Given the description of an element on the screen output the (x, y) to click on. 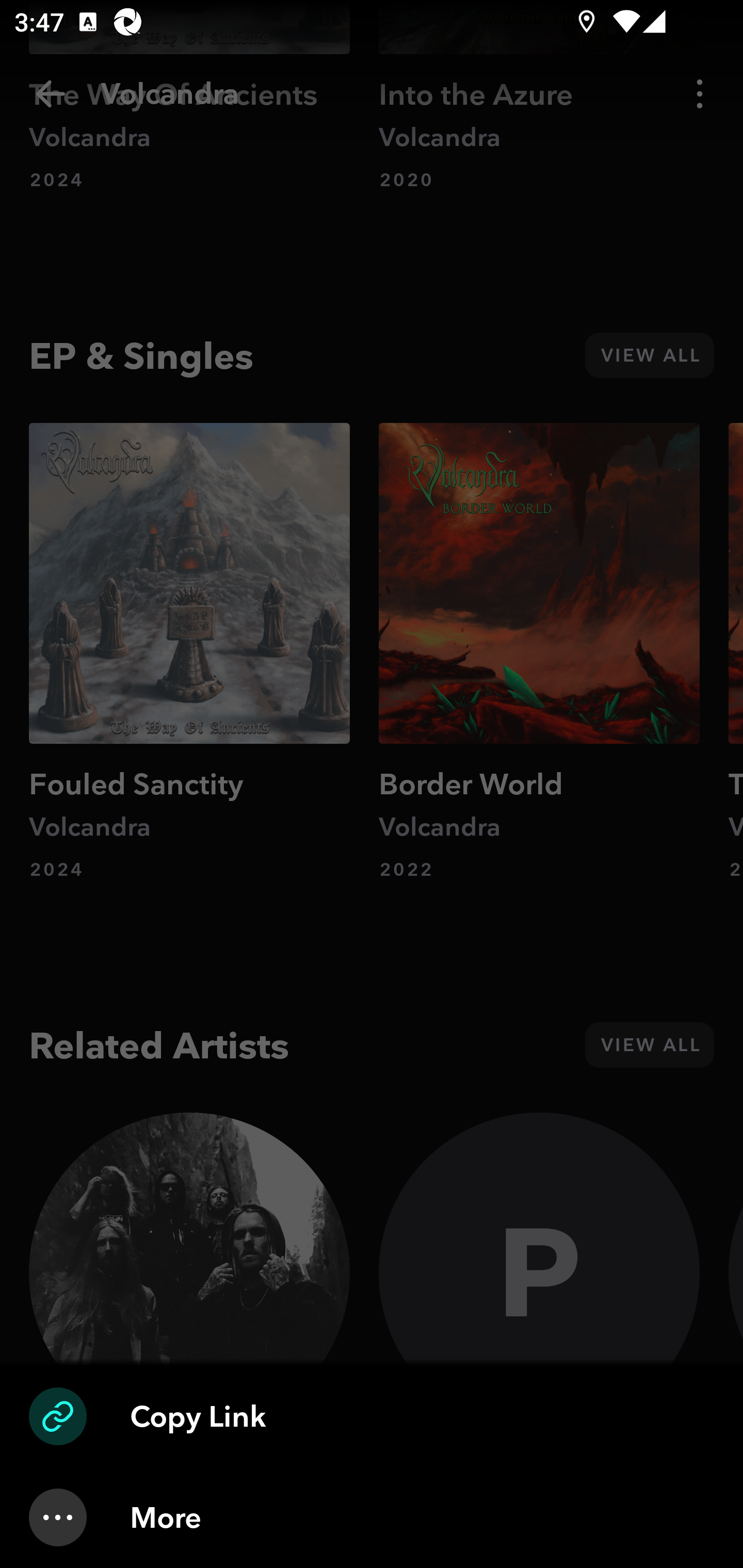
Copy Link (371, 1416)
More (371, 1517)
